Given the description of an element on the screen output the (x, y) to click on. 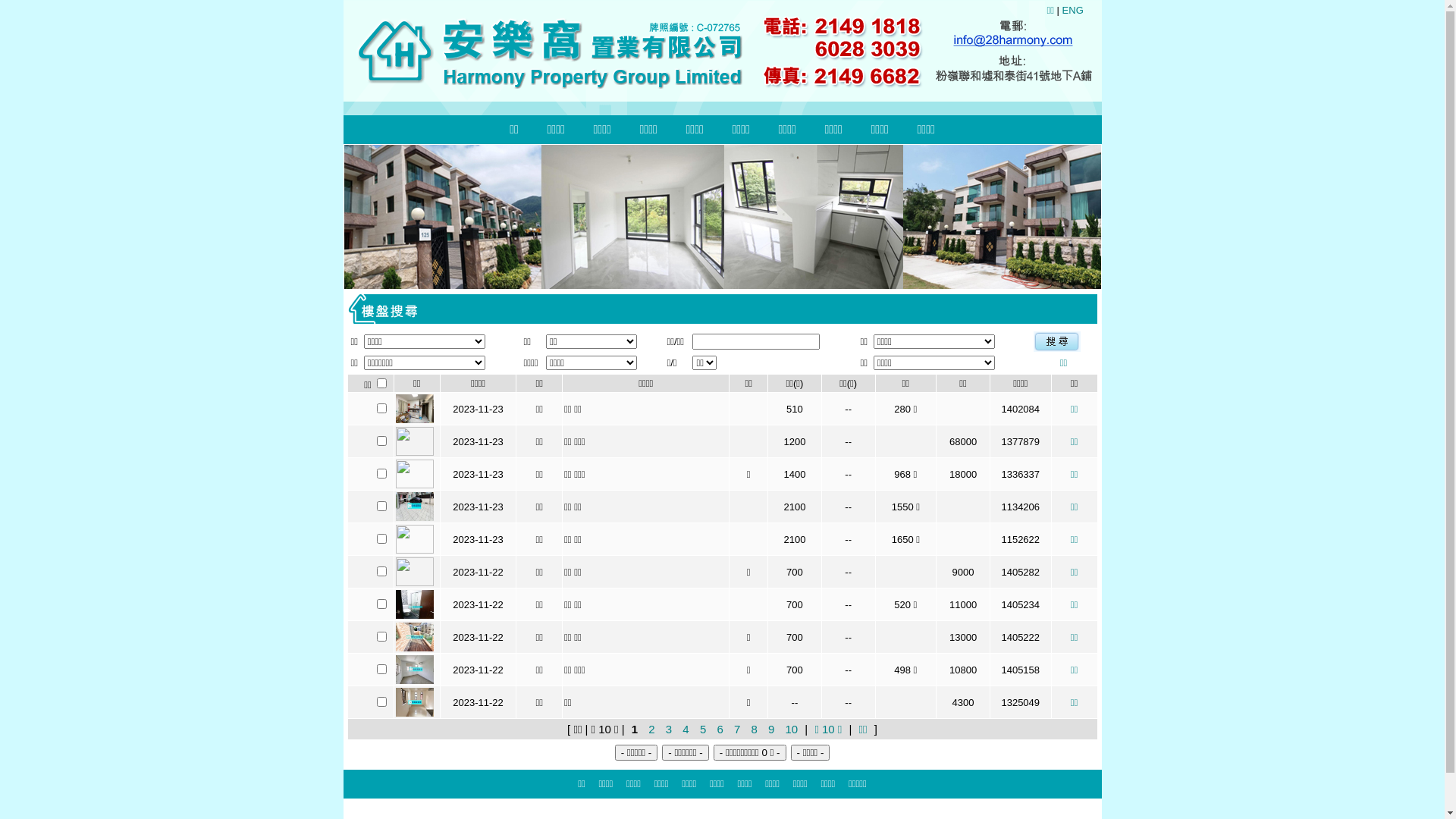
on Element type: text (381, 383)
B9589992 Element type: text (381, 538)
C0039079 Element type: text (381, 636)
B9529391 Element type: text (381, 506)
6 Element type: text (719, 728)
4 Element type: text (685, 728)
5 Element type: text (702, 728)
C0039083 Element type: text (381, 603)
HPG4020841WENDY Element type: text (381, 408)
C0038581 Element type: text (381, 669)
C0039123 Element type: text (381, 571)
HPG3250491WENDY Element type: text (381, 701)
9 Element type: text (771, 728)
B9884919 Element type: text (381, 473)
10 Element type: text (790, 728)
3 Element type: text (668, 728)
ENG Element type: text (1072, 9)
8 Element type: text (753, 728)
2 Element type: text (651, 728)
7 Element type: text (737, 728)
B9940007 Element type: text (381, 440)
